Given the description of an element on the screen output the (x, y) to click on. 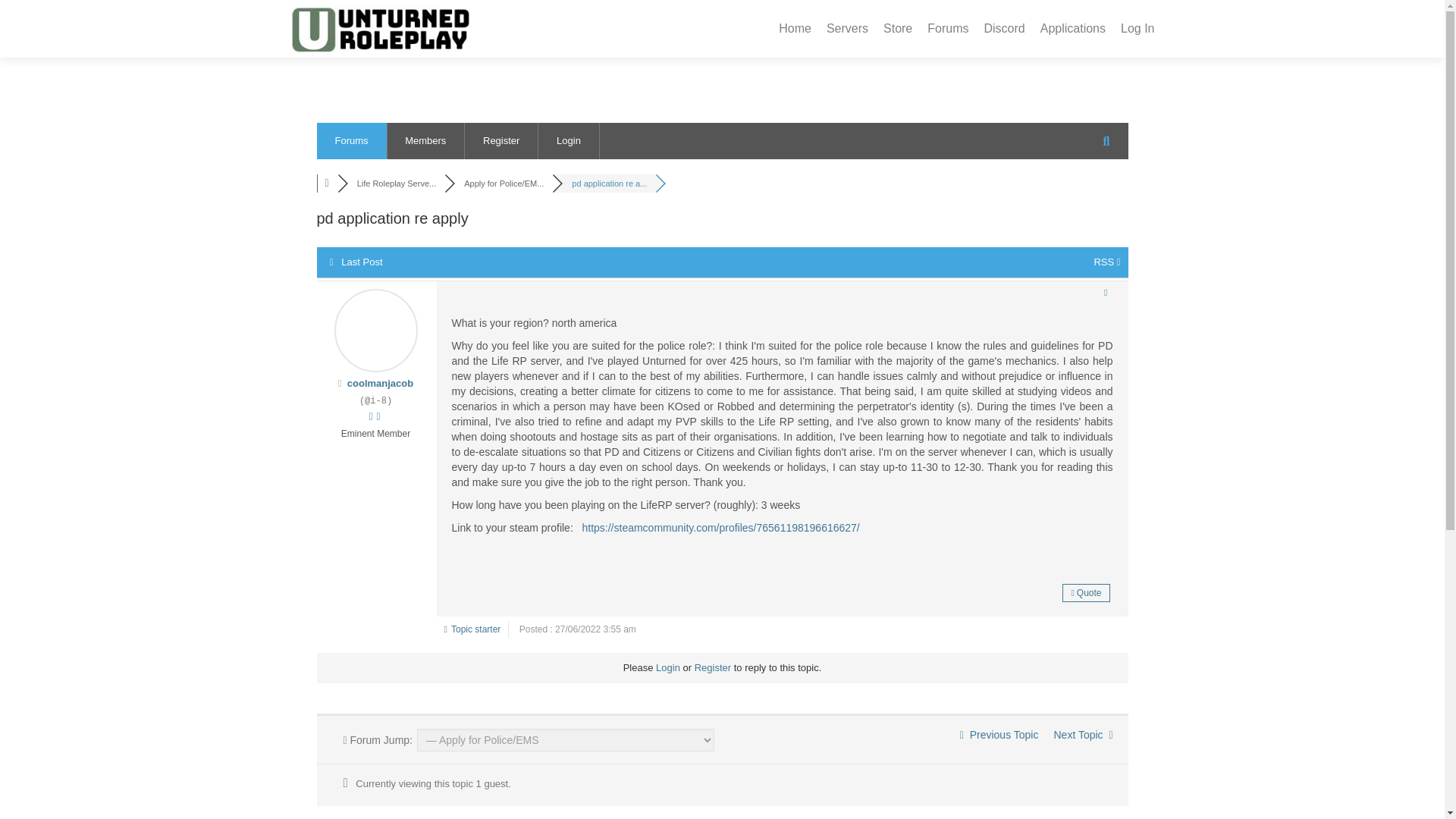
  Previous Topic (999, 734)
Login (667, 667)
Members (425, 140)
Next Topic   (1082, 734)
Register (712, 667)
coolmanjacob (380, 383)
Forums (352, 140)
Store (897, 28)
coolmanjacob (380, 383)
Home (794, 28)
